Given the description of an element on the screen output the (x, y) to click on. 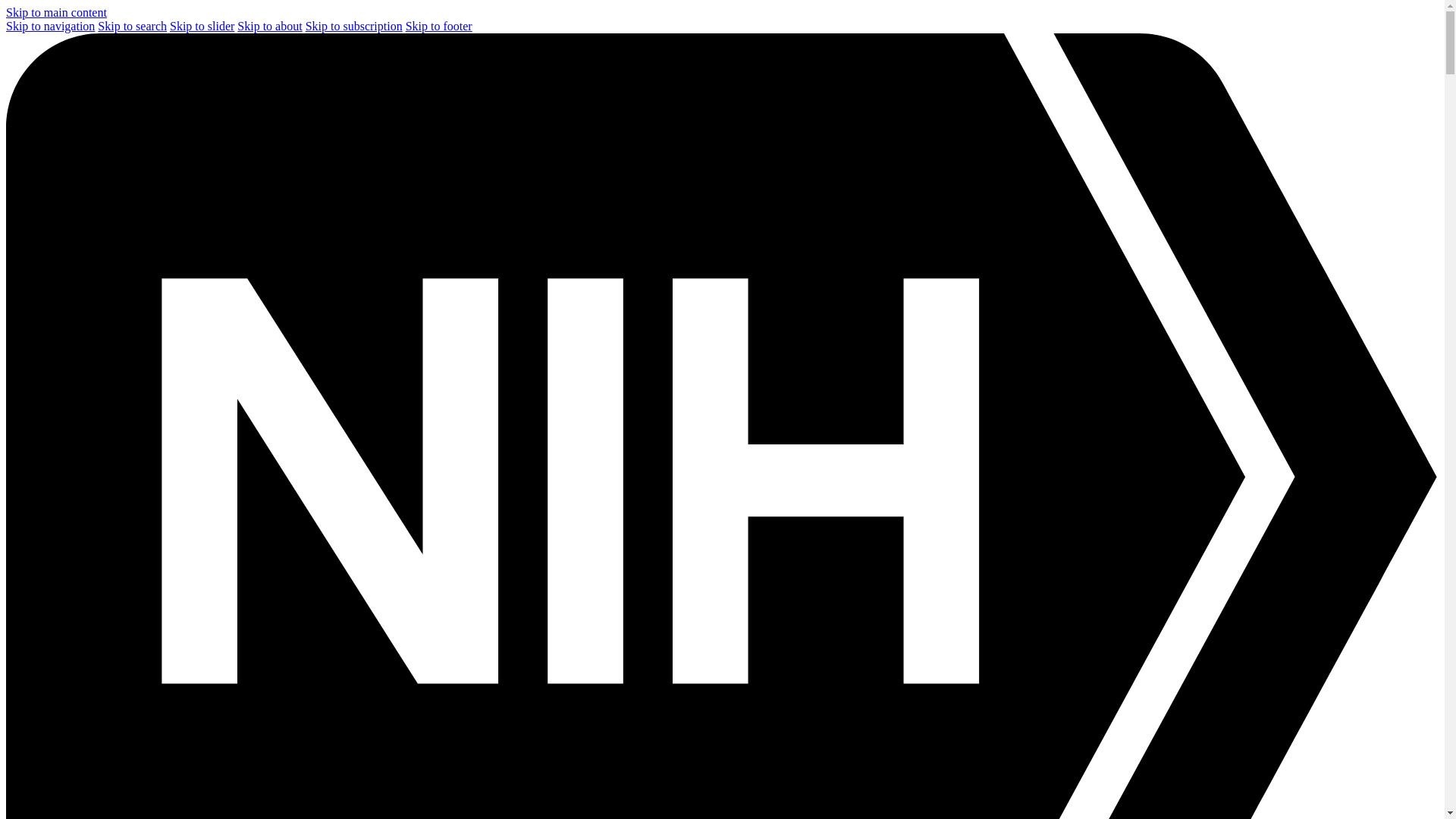
Skip to footer (438, 25)
Skip to about (269, 25)
Skip to navigation (49, 25)
Skip to search (132, 25)
Skip to slider (202, 25)
Skip to main content (55, 11)
Skip to subscription (354, 25)
